Given the description of an element on the screen output the (x, y) to click on. 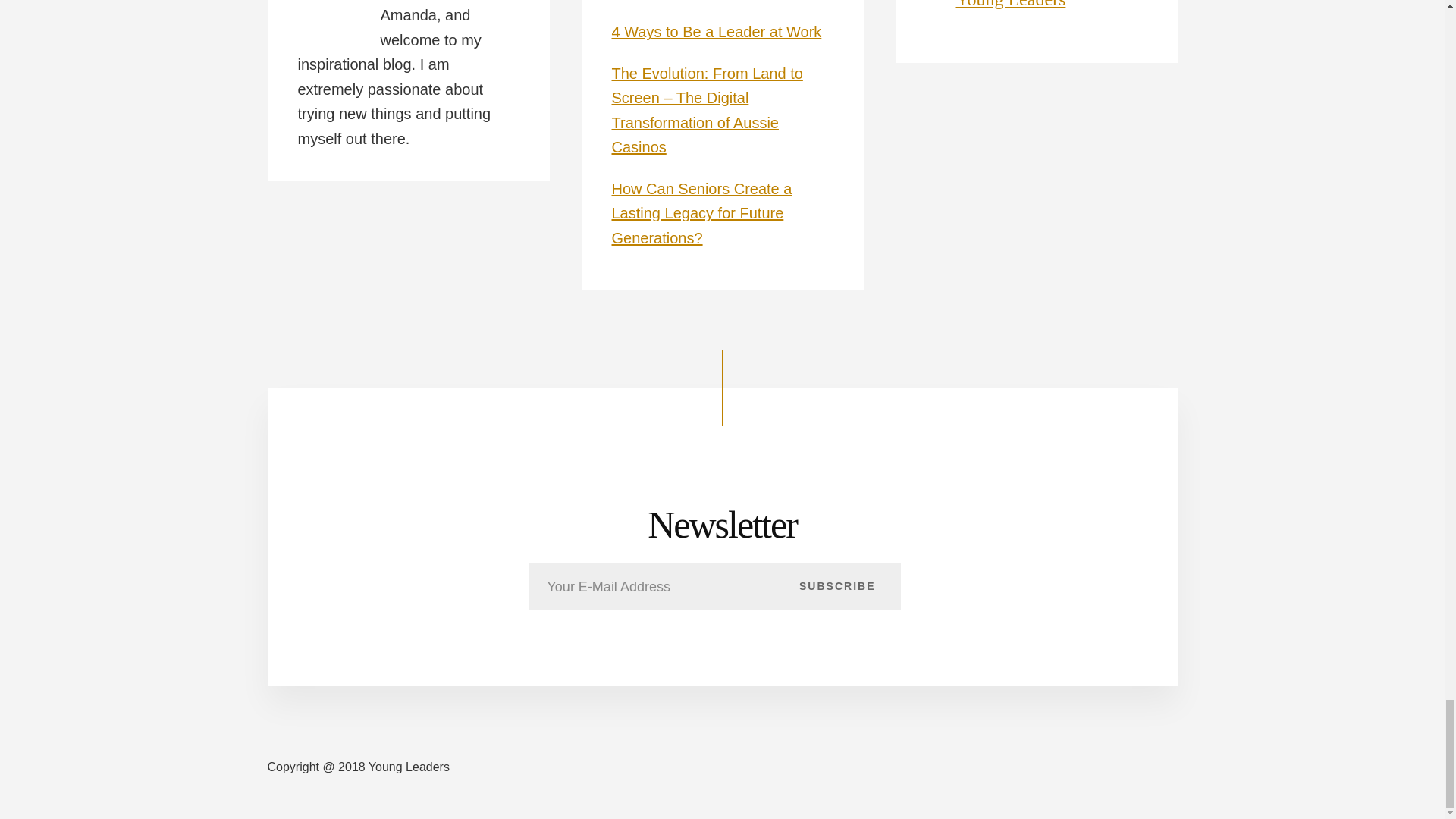
SUBSCRIBE (837, 585)
SUBSCRIBE (837, 585)
Young Leaders (1010, 4)
4 Ways to Be a Leader at Work (716, 31)
